Given the description of an element on the screen output the (x, y) to click on. 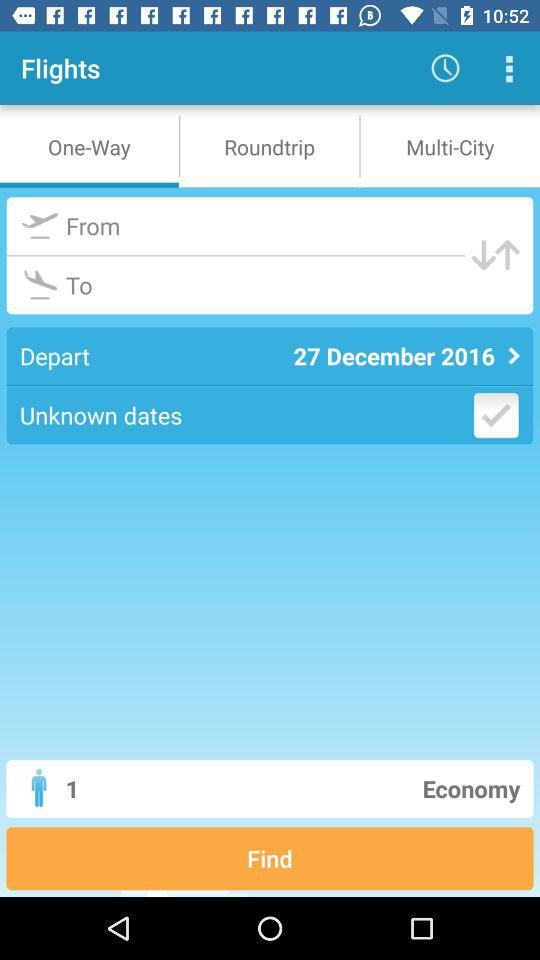
turn on app next to the flights item (444, 67)
